Given the description of an element on the screen output the (x, y) to click on. 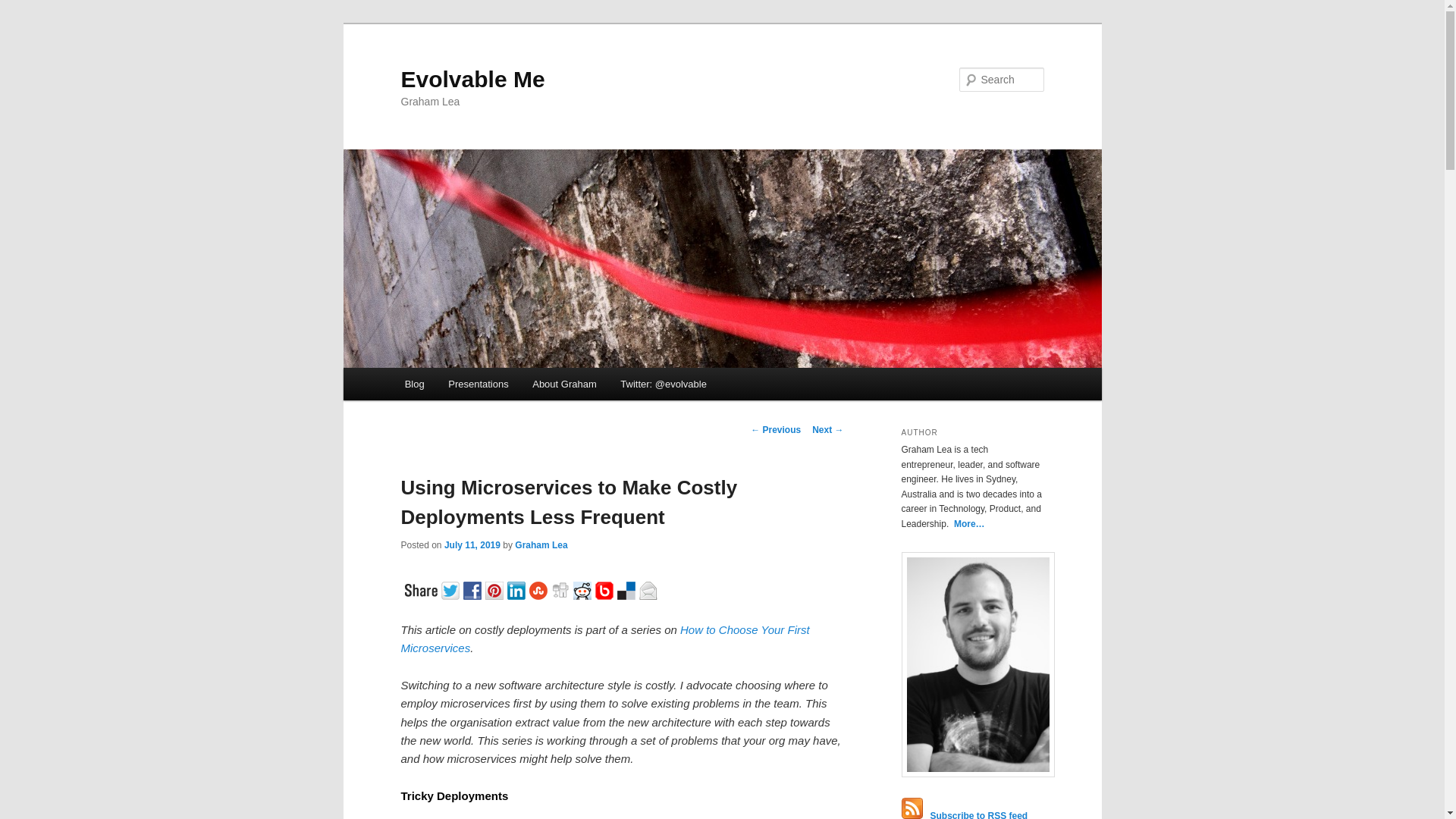
July 11, 2019 (472, 544)
Graham Lea (541, 544)
StumbleUpon (540, 588)
Email (650, 588)
Presentations (477, 383)
Linkedin (517, 588)
Reddit (584, 588)
Twitter (452, 588)
Search (24, 8)
About Graham (563, 383)
View all posts by Graham Lea (541, 544)
Pinterest (495, 588)
Blog (414, 383)
Delicious (628, 588)
1:38 pm (472, 544)
